Given the description of an element on the screen output the (x, y) to click on. 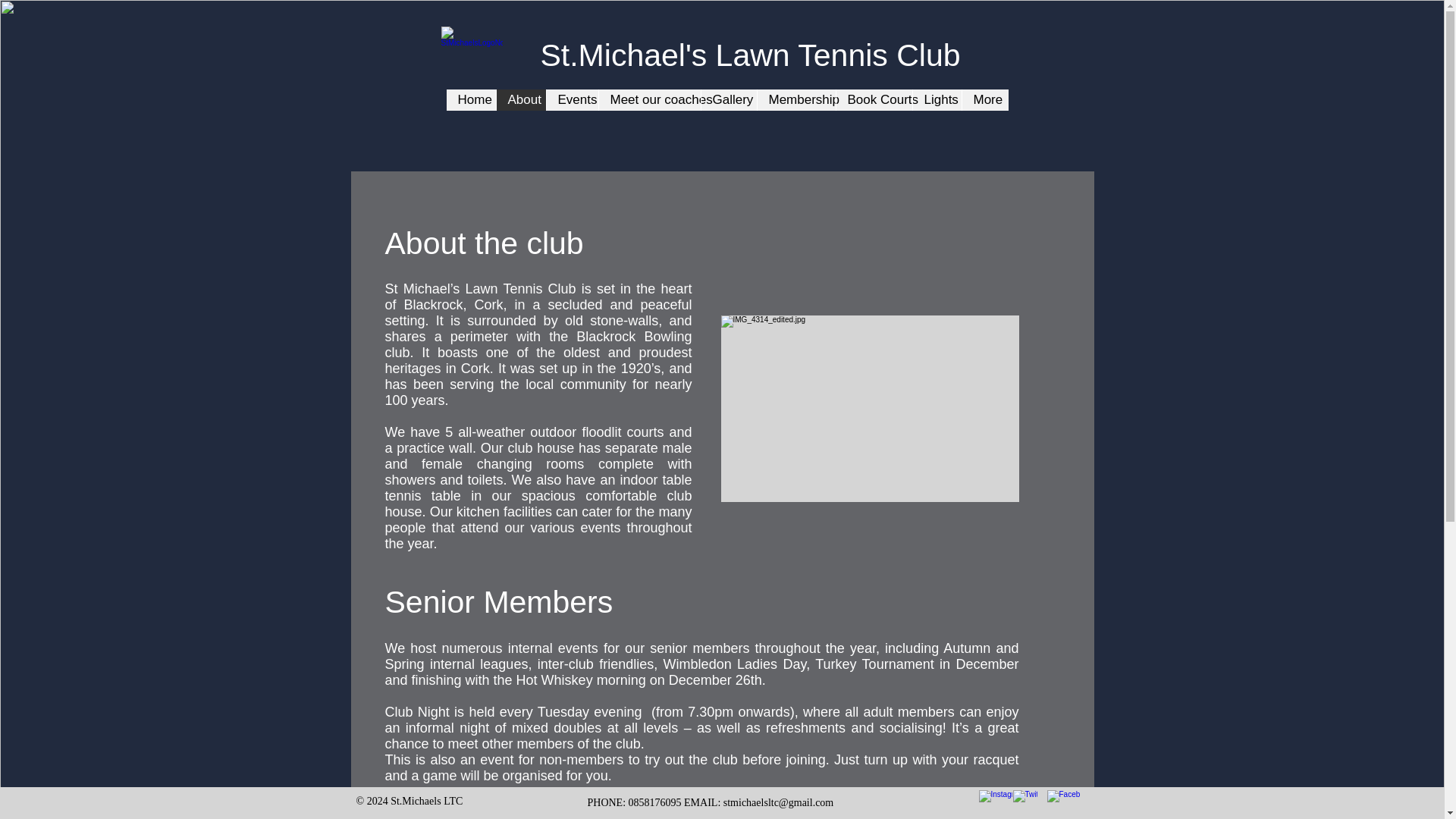
Meet our coaches (648, 99)
Events (572, 99)
Membership (796, 99)
Home (470, 99)
Gallery (728, 99)
St.Michael's Lawn Tennis Club (749, 54)
About (521, 99)
Book Courts (873, 99)
Lights (935, 99)
